Given the description of an element on the screen output the (x, y) to click on. 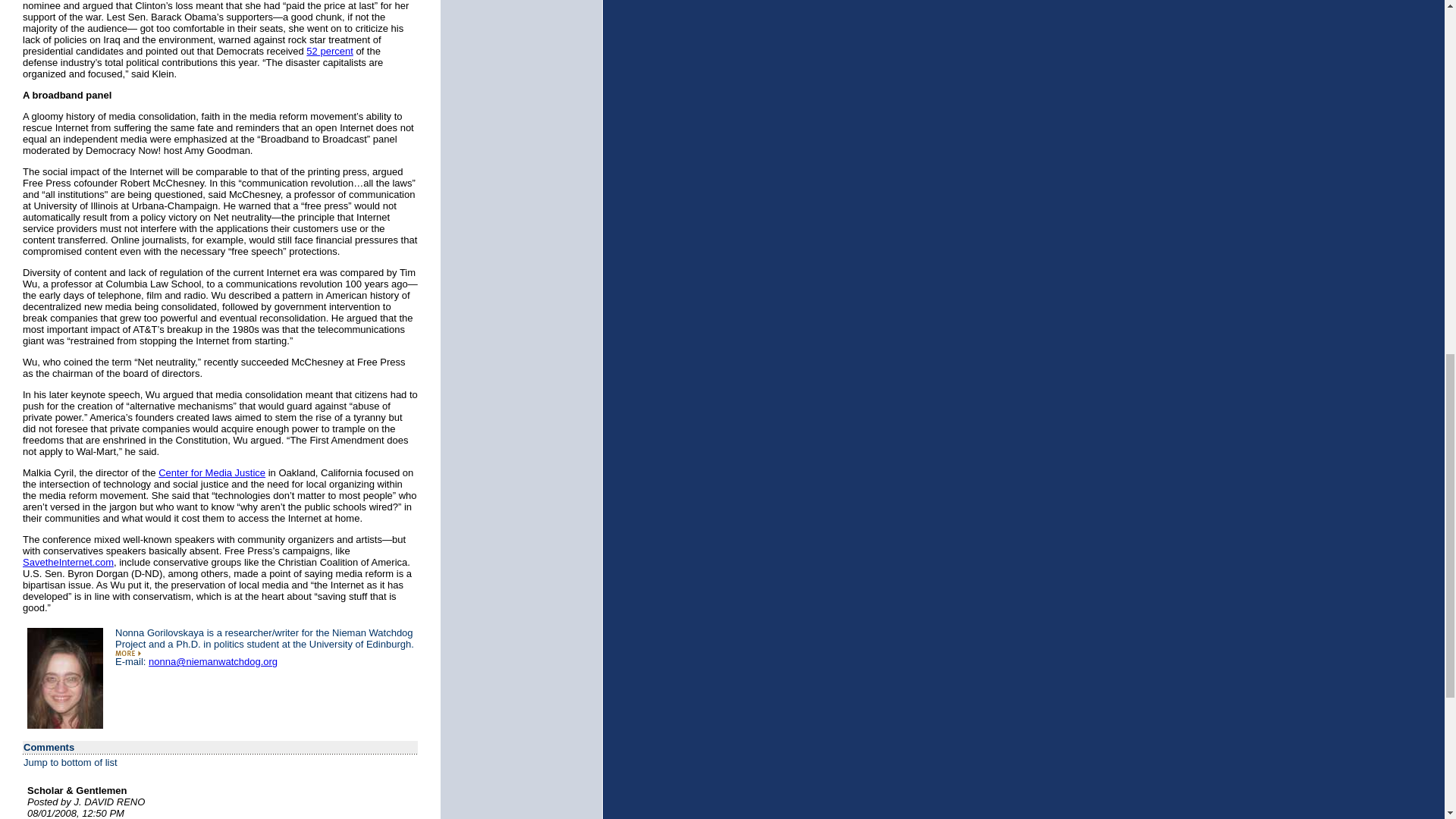
SavetheInternet.com (68, 562)
Jump to bottom of list (70, 762)
Center for Media Justice (211, 472)
52 percent (328, 50)
